Given the description of an element on the screen output the (x, y) to click on. 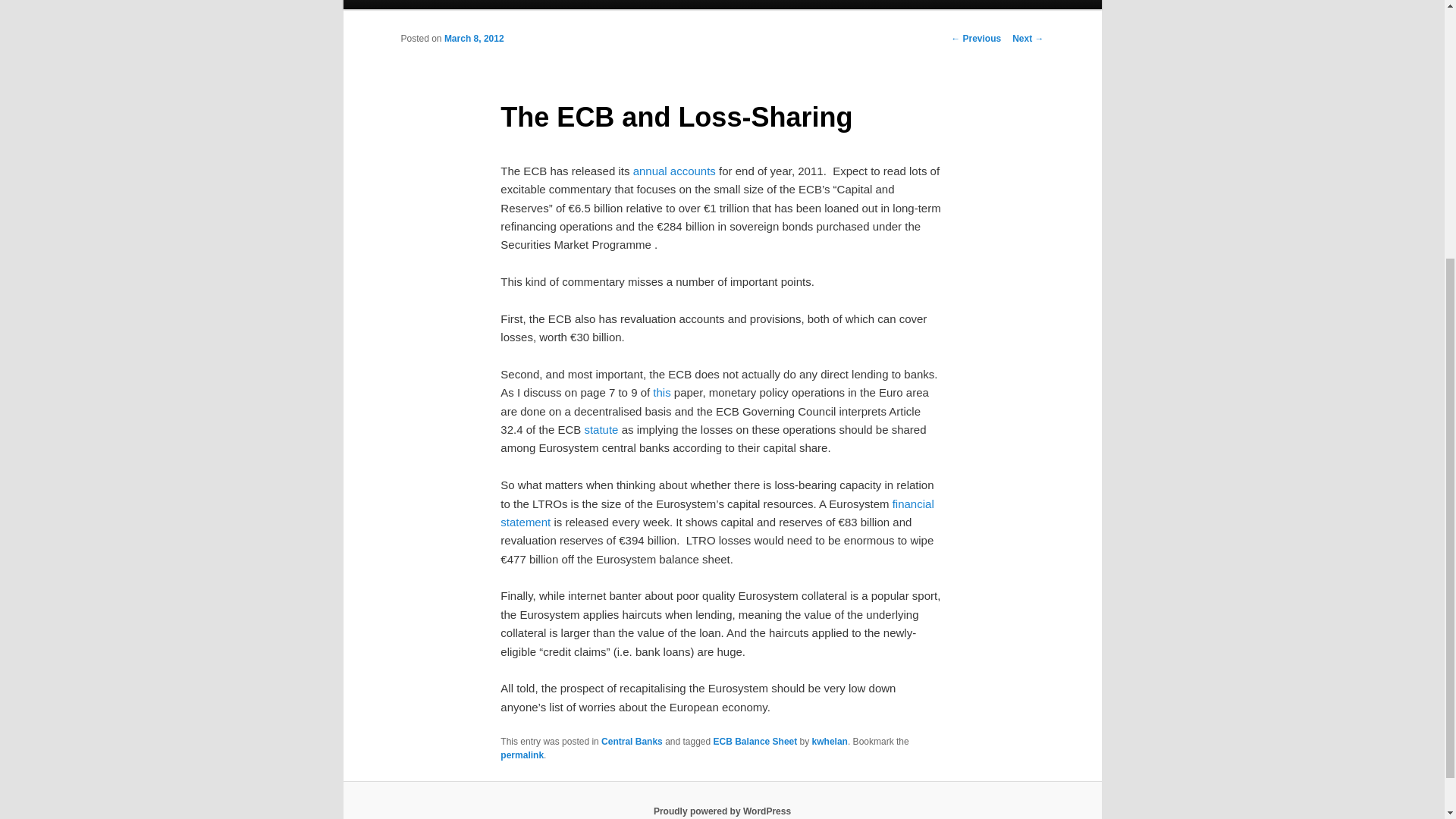
ECB Balance Sheet (755, 741)
Welcome (872, 4)
Contact (529, 4)
6:20 pm (473, 38)
UCD (817, 4)
Proudly powered by WordPress (721, 810)
Teaching (763, 4)
Research (698, 4)
this (660, 391)
permalink (521, 755)
March 8, 2012 (473, 38)
Central Banks (631, 741)
Permalink to The ECB and Loss-Sharing (521, 755)
annual accounts (674, 170)
kwhelan (829, 741)
